Given the description of an element on the screen output the (x, y) to click on. 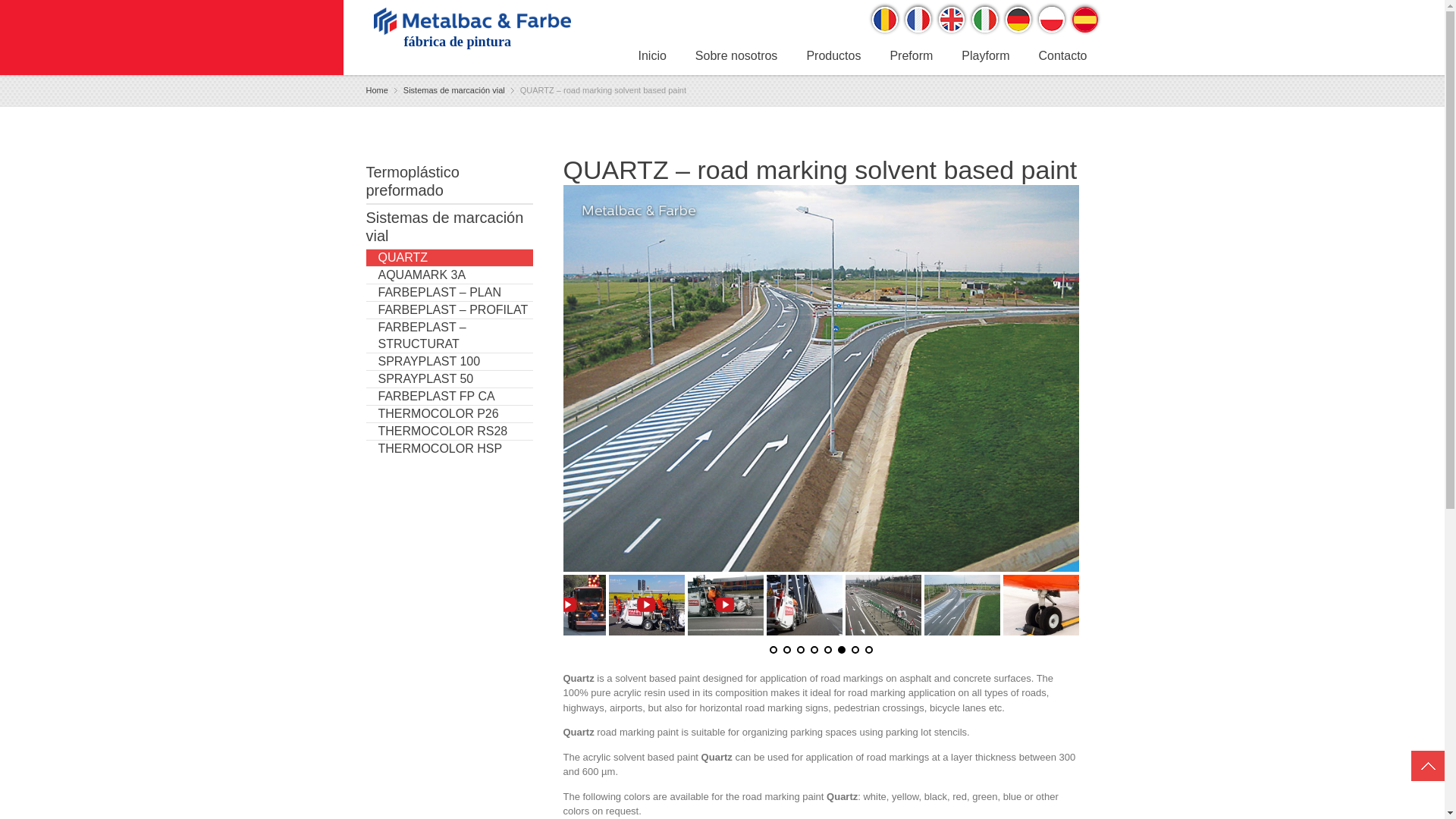
Preform TCG (911, 57)
FARBEPLAST FP CA (448, 396)
Sobre nosotros (736, 57)
THERMOCOLOR RS28 (448, 431)
THERMOCOLOR HSP (448, 448)
productos (833, 57)
Contacto (1061, 57)
SPRAYPLAST 100 (448, 361)
Playform (985, 57)
Productos (833, 57)
THERMOCOLOR P26 (448, 414)
SPRAYPLAST 50 (448, 379)
QUARTZ (448, 257)
AQUAMARK 3A (448, 275)
Home (376, 89)
